Given the description of an element on the screen output the (x, y) to click on. 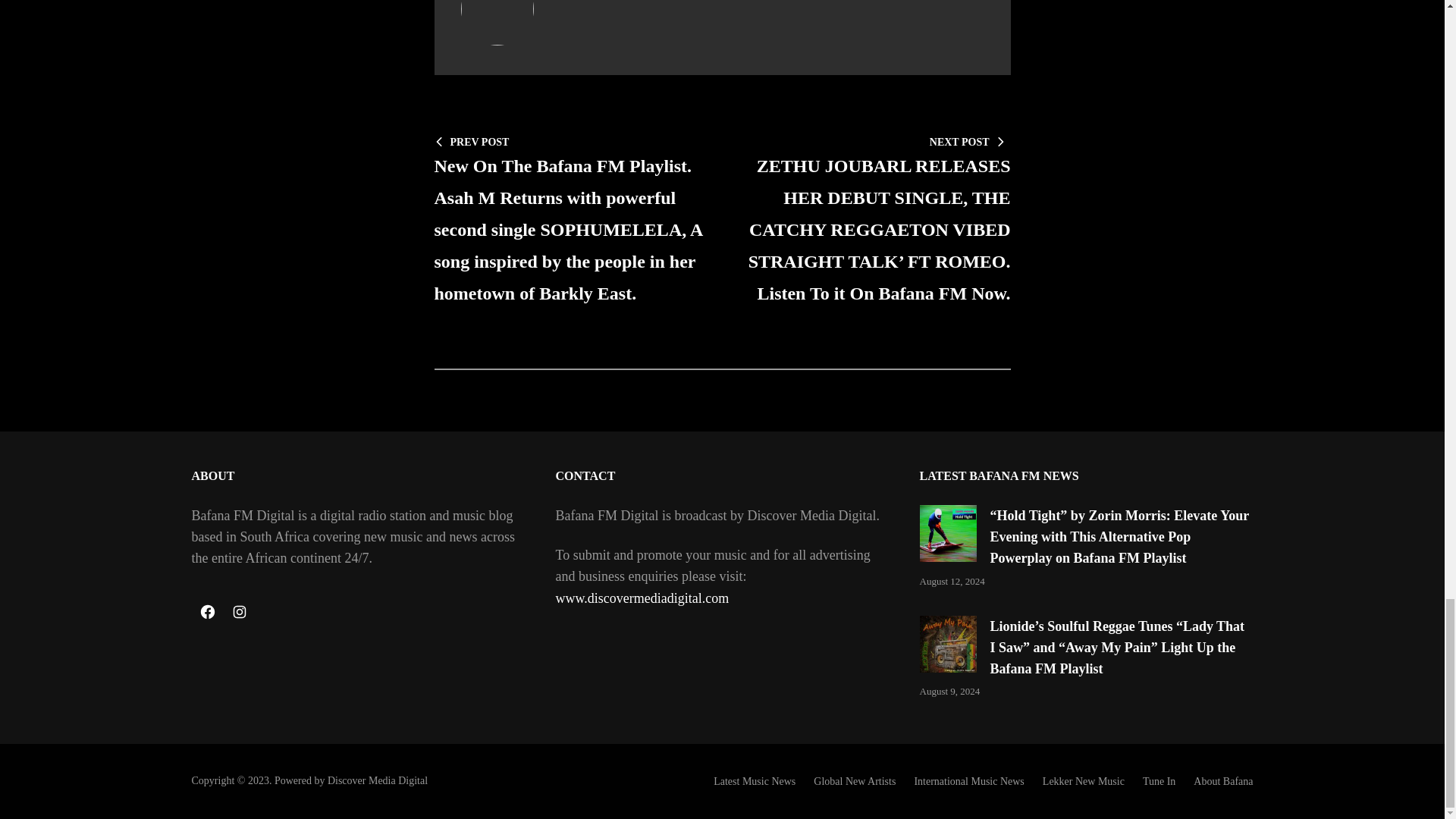
Facebook (206, 612)
Lekker New Music (1083, 780)
Latest Music News (753, 780)
www.discovermediadigital.com (641, 597)
Instagram (238, 612)
Tune In (1158, 780)
Global New Artists (854, 780)
About Bafana (1222, 780)
Discover Media Digital (377, 780)
